Given the description of an element on the screen output the (x, y) to click on. 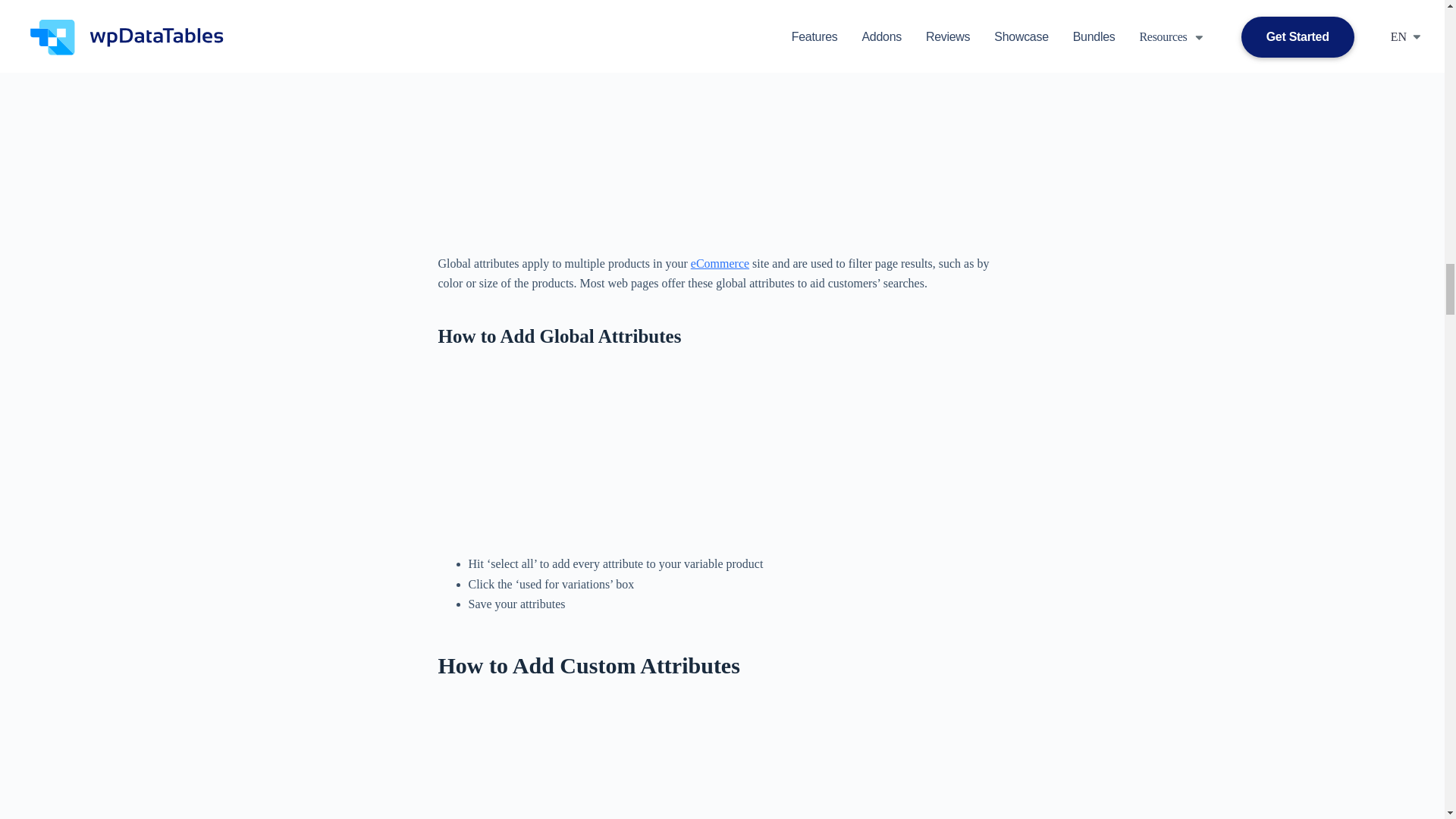
eCommerce (719, 263)
